Given the description of an element on the screen output the (x, y) to click on. 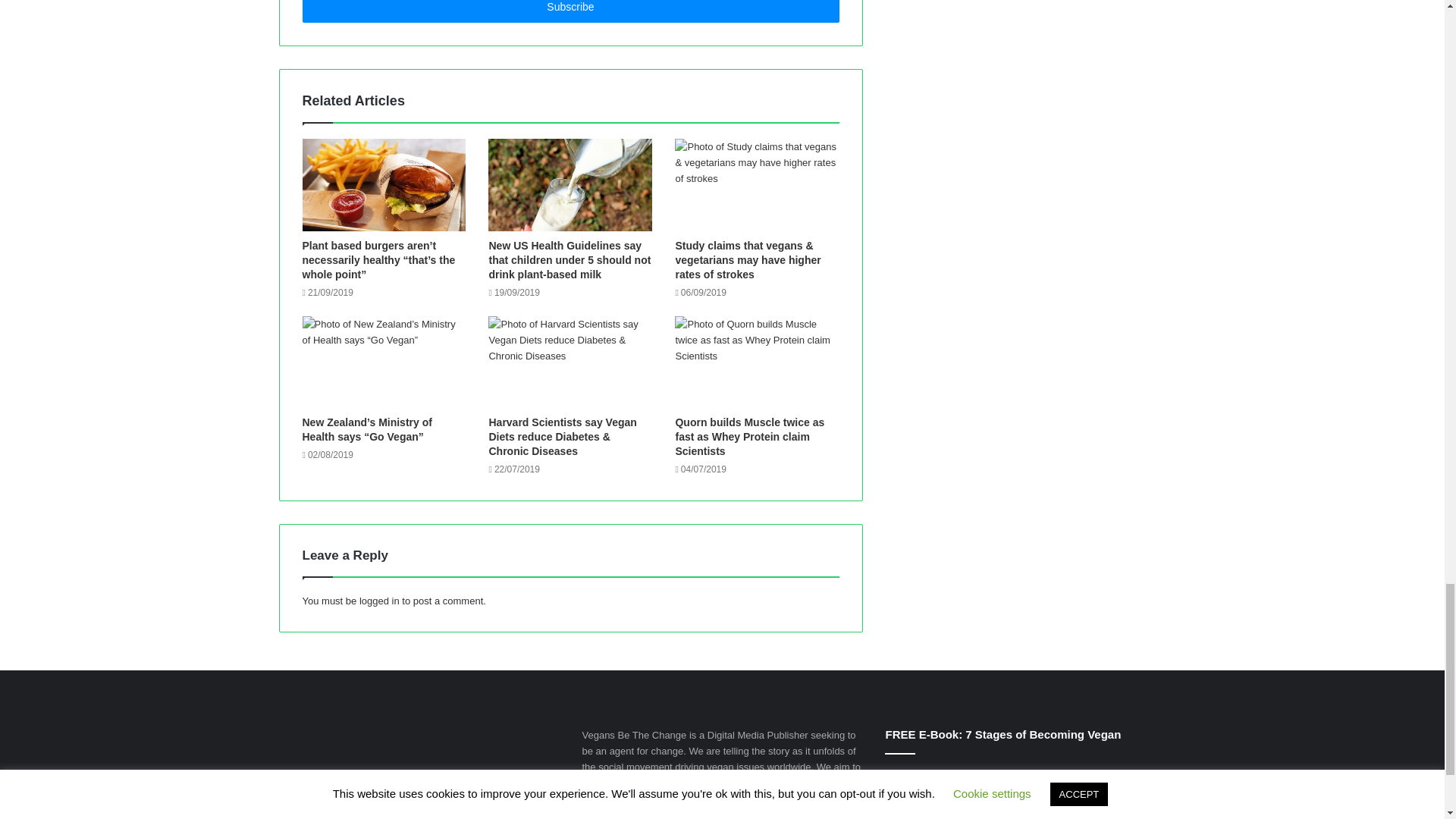
Subscribe (569, 11)
